Given the description of an element on the screen output the (x, y) to click on. 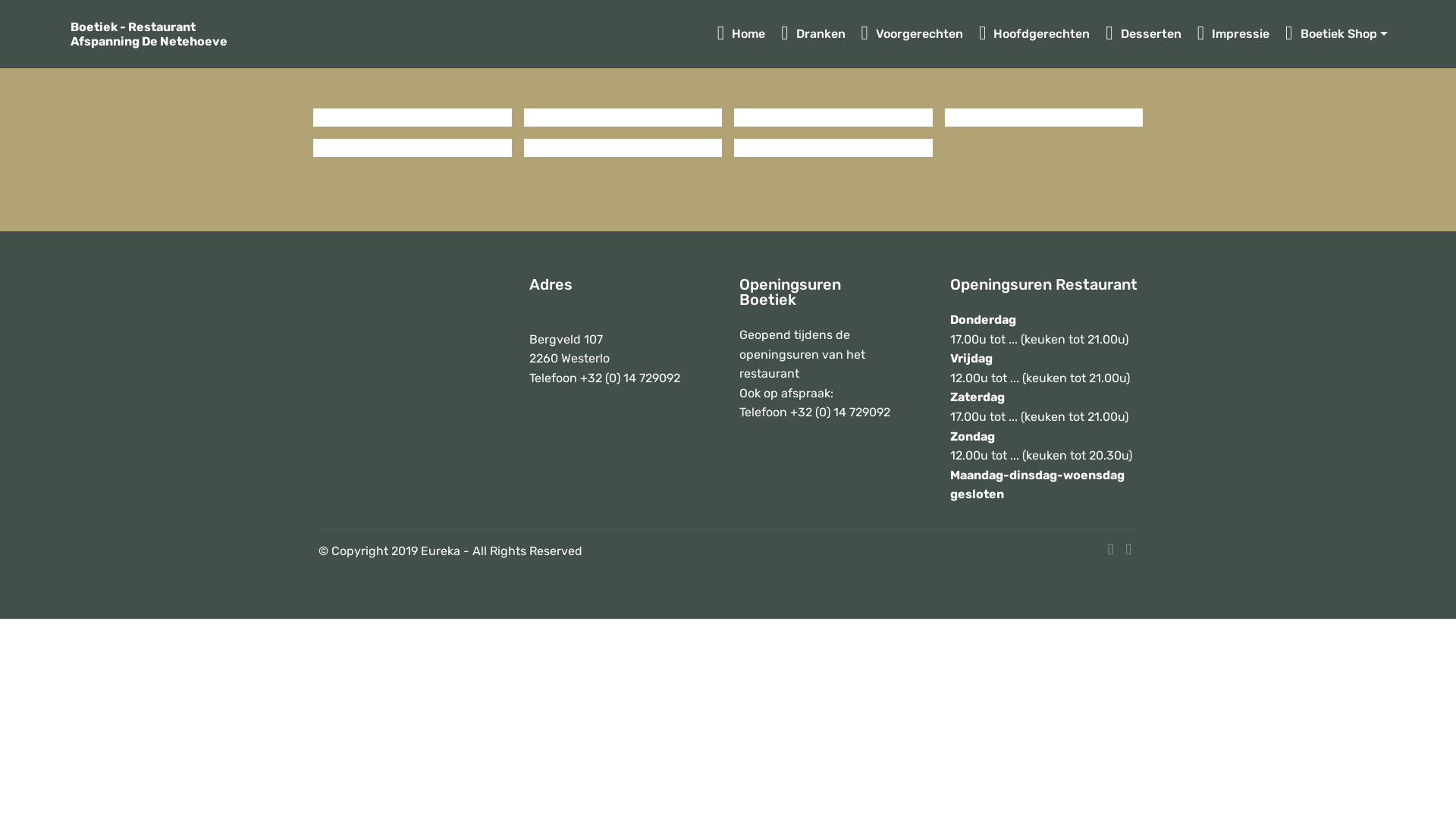
Boetiek Shop Element type: text (1336, 33)
Voorgerechten Element type: text (912, 33)
Impressie Element type: text (1233, 33)
Dranken Element type: text (813, 33)
Telefoon +32 (0) 14 729092 Element type: text (814, 411)
Hoofdgerechten Element type: text (1034, 33)
Desserten Element type: text (1143, 33)
Home Element type: text (741, 33)
Boetiek - Restaurant 
Afspanning De Netehoeve Element type: text (160, 33)
